Given the description of an element on the screen output the (x, y) to click on. 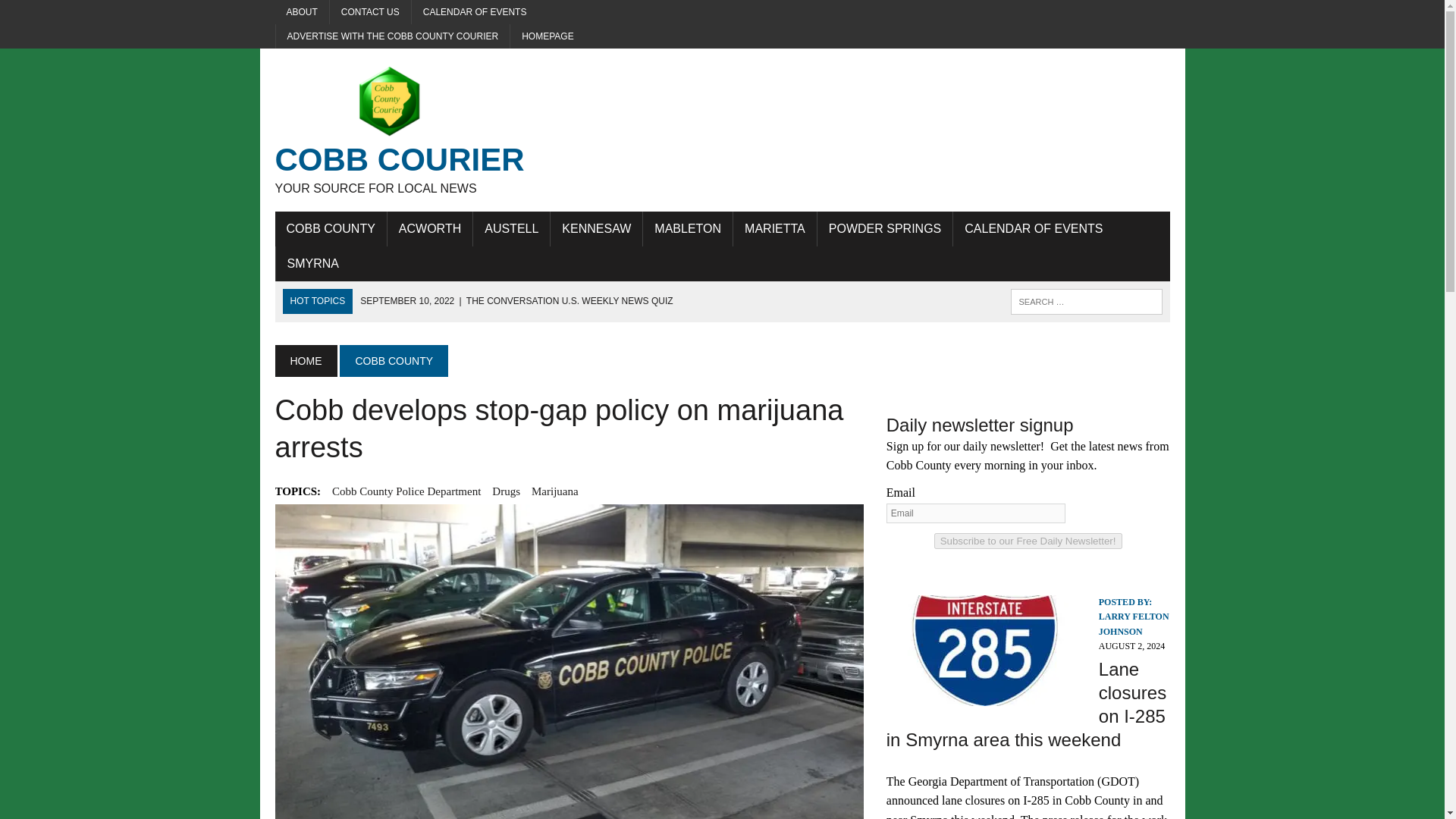
ACWORTH (429, 228)
CONTACT US (370, 12)
ABOUT (302, 12)
MARIETTA (774, 228)
Marijuana (554, 491)
MABLETON (687, 228)
Cobb  Courier (416, 129)
CALENDAR OF EVENTS (1033, 228)
CALENDAR OF EVENTS (475, 12)
HOMEPAGE (548, 36)
COBB COUNTY (393, 360)
Cobb County Police Department (405, 491)
Search (416, 129)
